Given the description of an element on the screen output the (x, y) to click on. 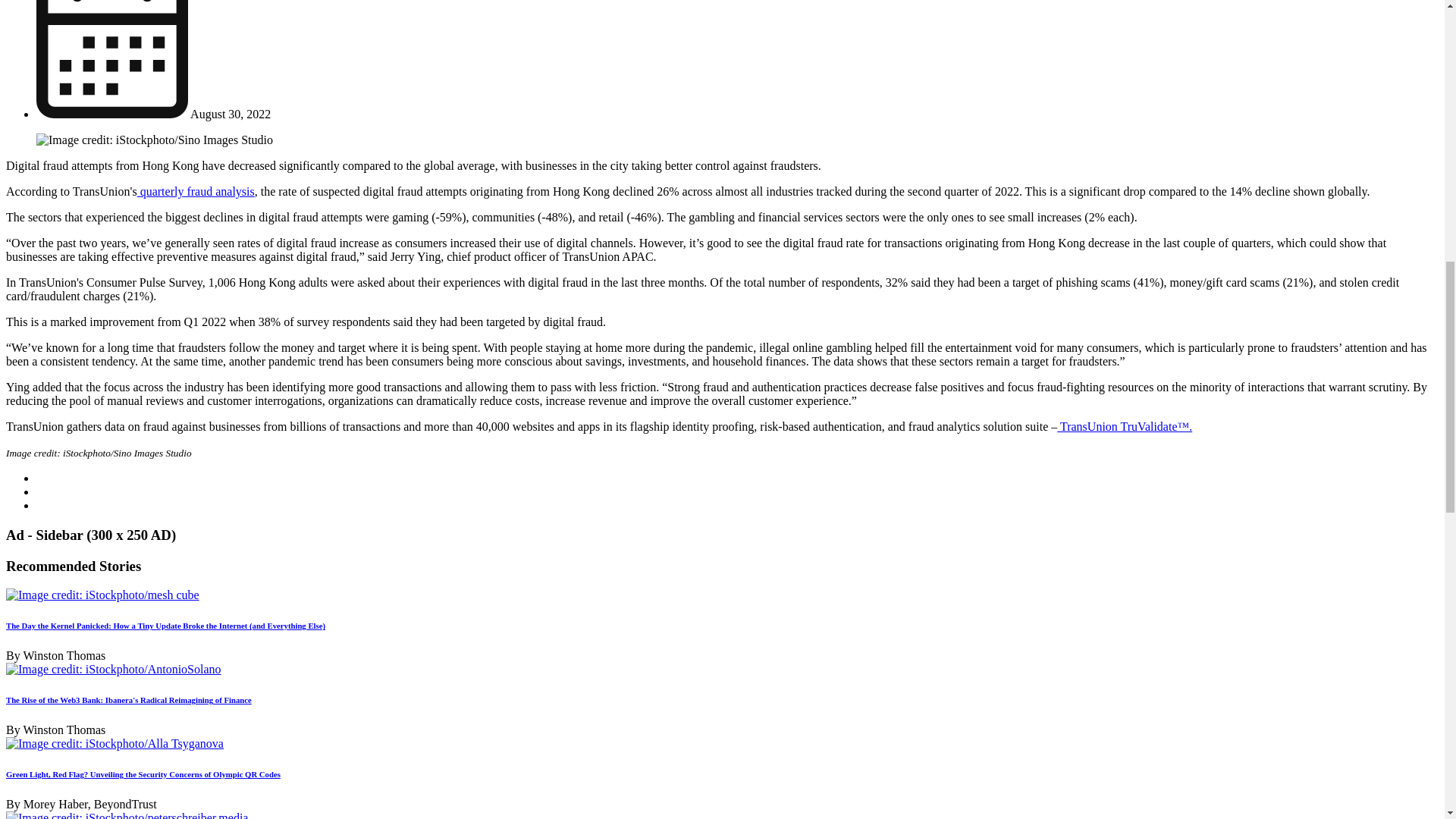
quarterly fraud analysis (195, 191)
